Given the description of an element on the screen output the (x, y) to click on. 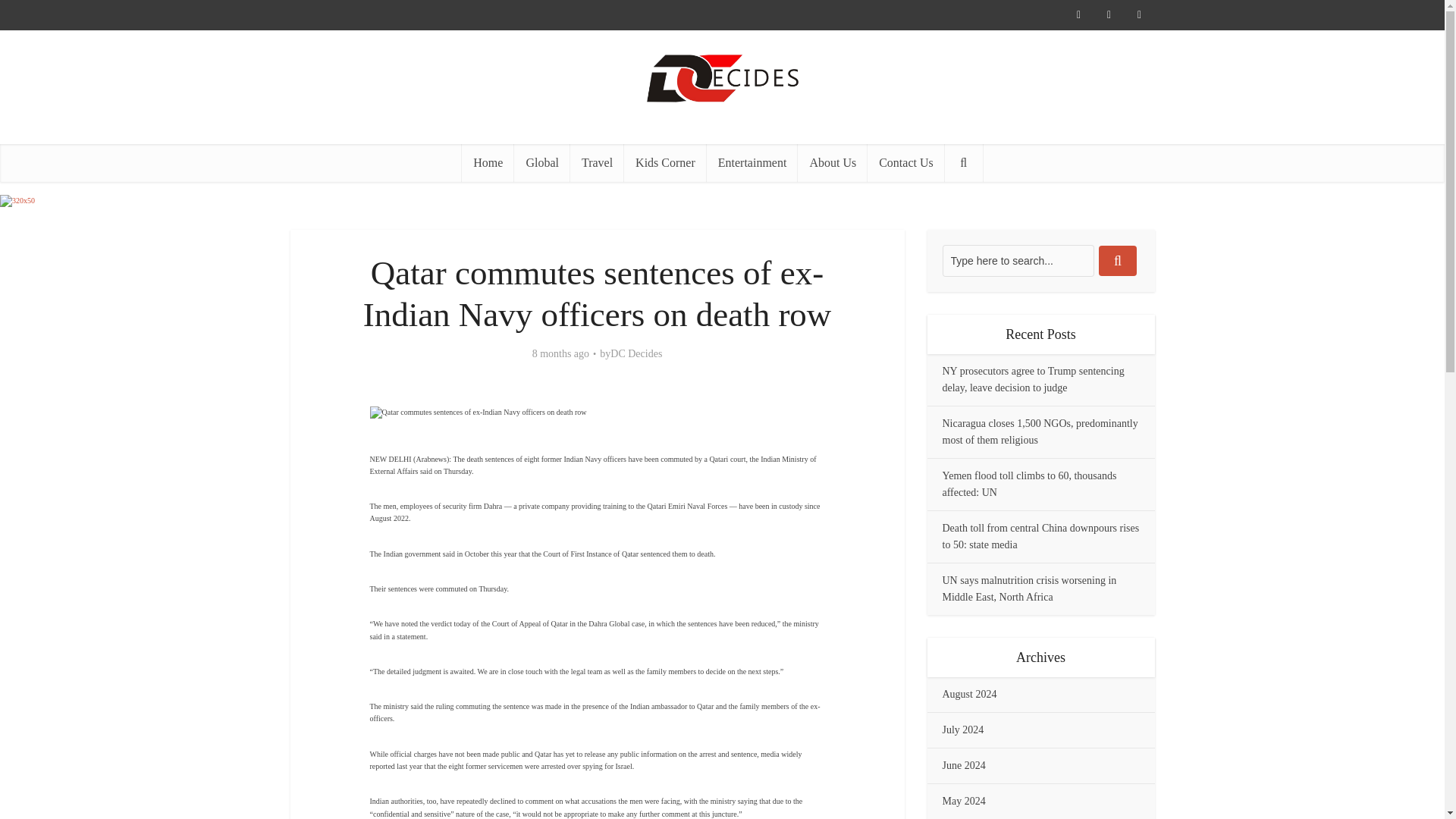
Home (487, 162)
320x50 (17, 200)
Type here to search... (1017, 260)
Entertainment (751, 162)
Global (541, 162)
Kids Corner (665, 162)
Travel (597, 162)
Contact Us (905, 162)
